Given the description of an element on the screen output the (x, y) to click on. 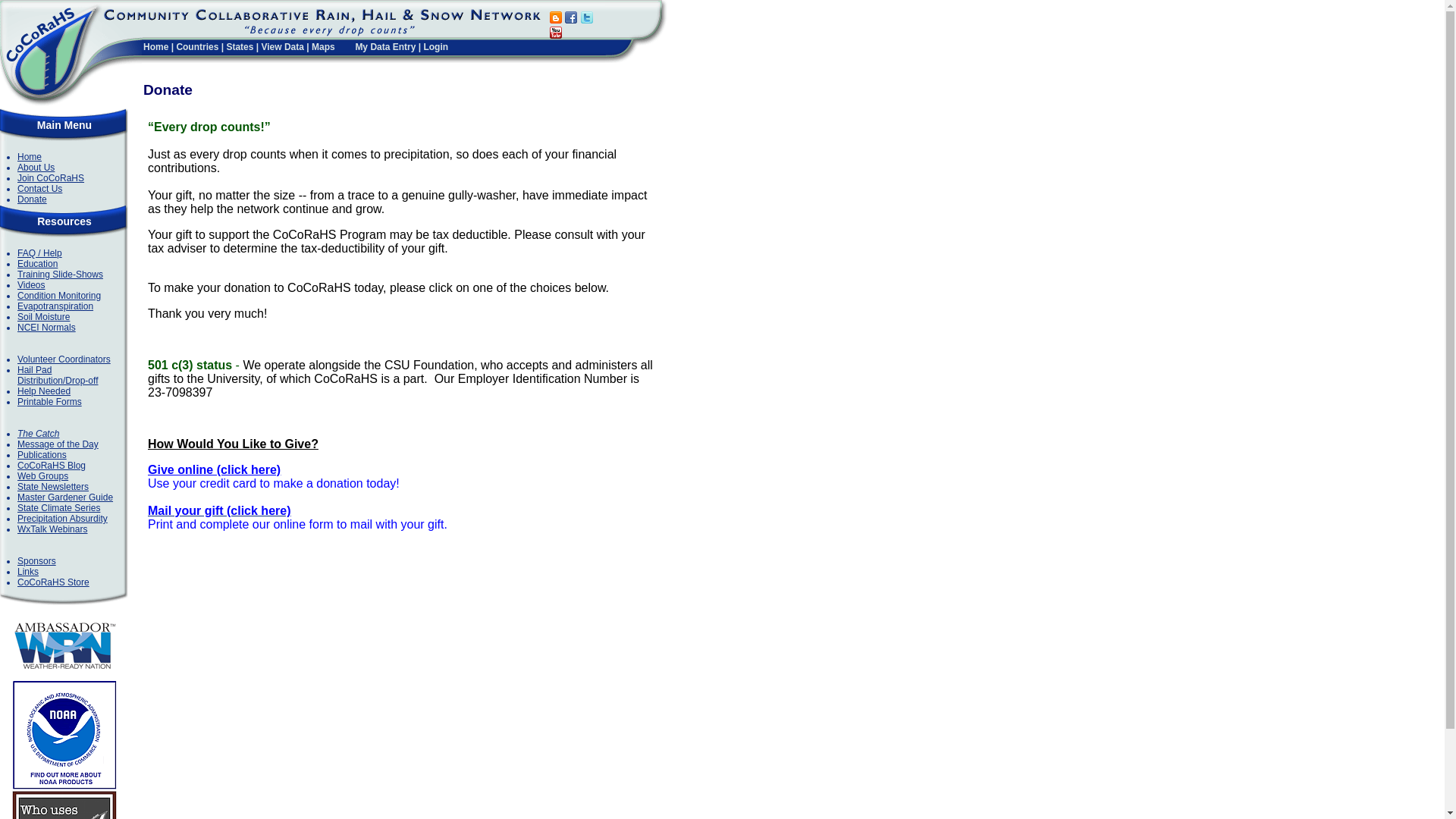
Web Groups (42, 475)
Volunteer Coordinators (63, 358)
Go to CoCoRaHS Blog (556, 19)
State Climate Series (58, 507)
Login (435, 46)
State Newsletters (52, 486)
Go to CoCoRaHS Twitter page (586, 19)
Precipitation Absurdity (62, 518)
CoCoRaHS Blog (51, 465)
Donate (31, 199)
Soil Moisture (43, 317)
Evapotranspiration (55, 306)
Help Needed (43, 390)
Countries (197, 46)
Education (37, 263)
